Given the description of an element on the screen output the (x, y) to click on. 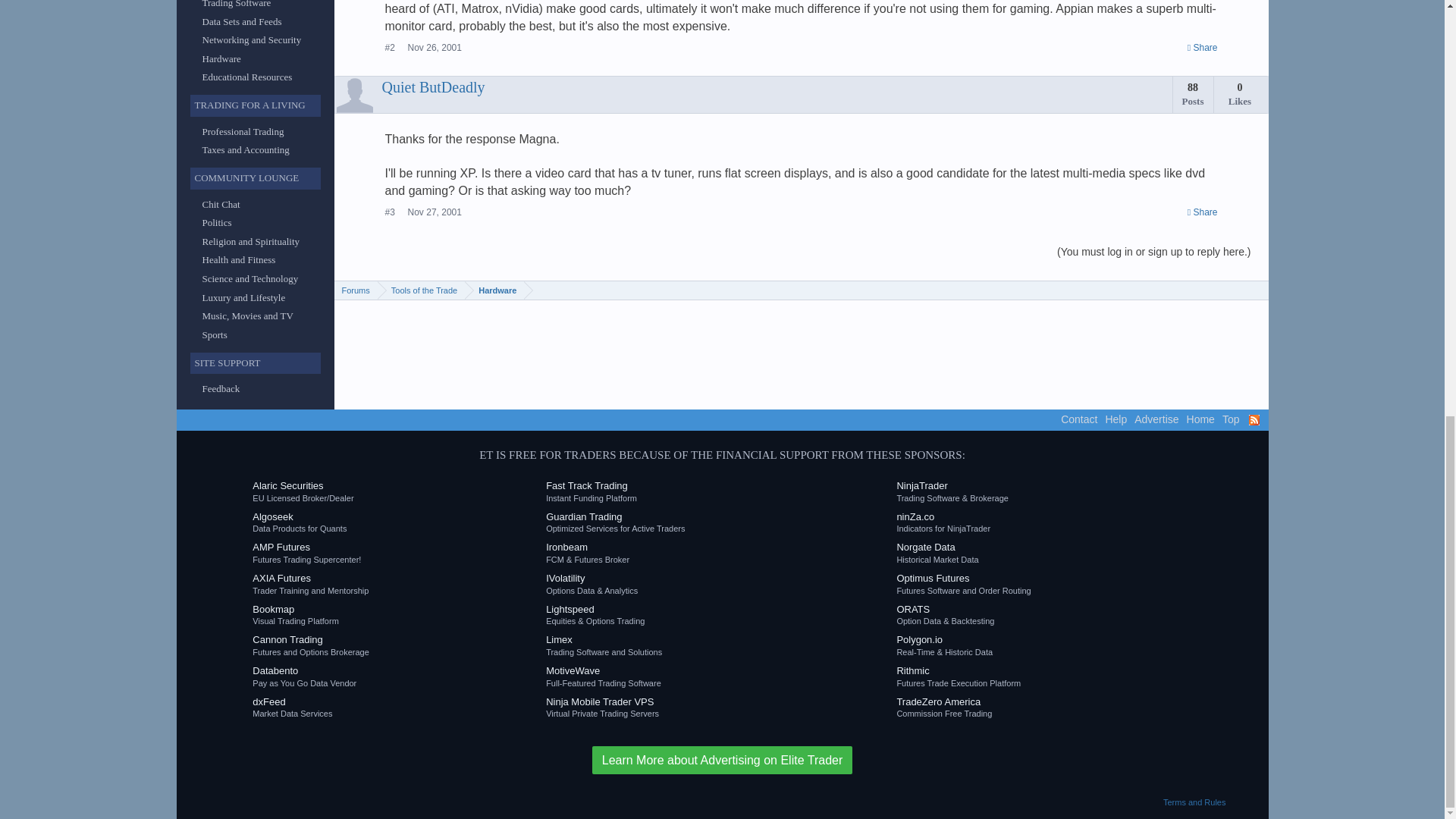
Religion and Spirituality (250, 241)
Networking and Security (251, 39)
Chit Chat (221, 204)
Permalink (434, 47)
Trading Software (236, 4)
Taxes and Accounting (245, 149)
Politics (216, 222)
Data Sets and Feeds (241, 20)
Permalink (1202, 212)
Permalink (434, 212)
RSS feed for Elite Trader (1253, 419)
Educational Resources (247, 76)
Permalink (1202, 48)
Hardware (221, 58)
Professional Trading (242, 131)
